Given the description of an element on the screen output the (x, y) to click on. 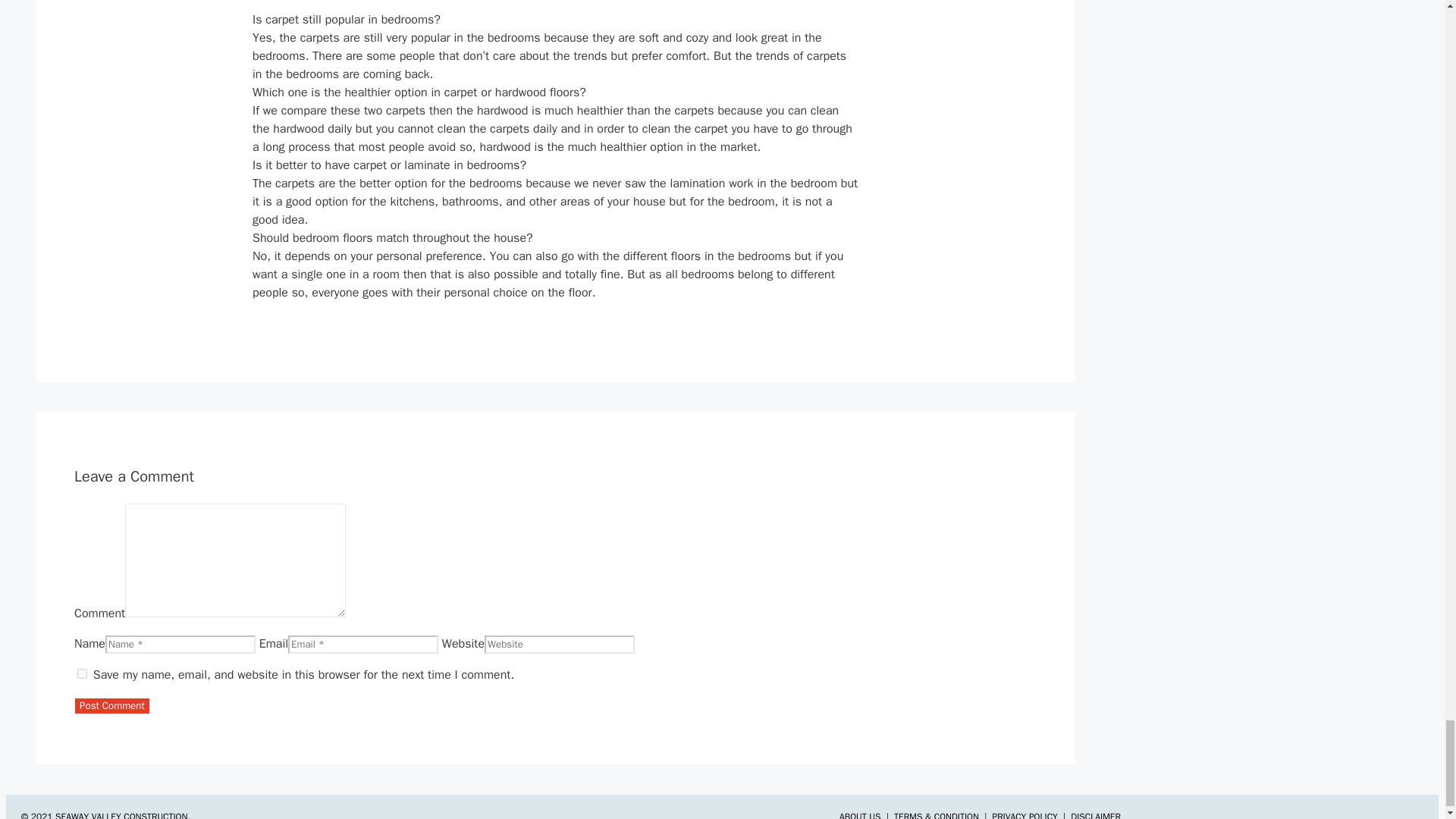
Post Comment (111, 705)
yes (82, 673)
Post Comment (111, 705)
